Given the description of an element on the screen output the (x, y) to click on. 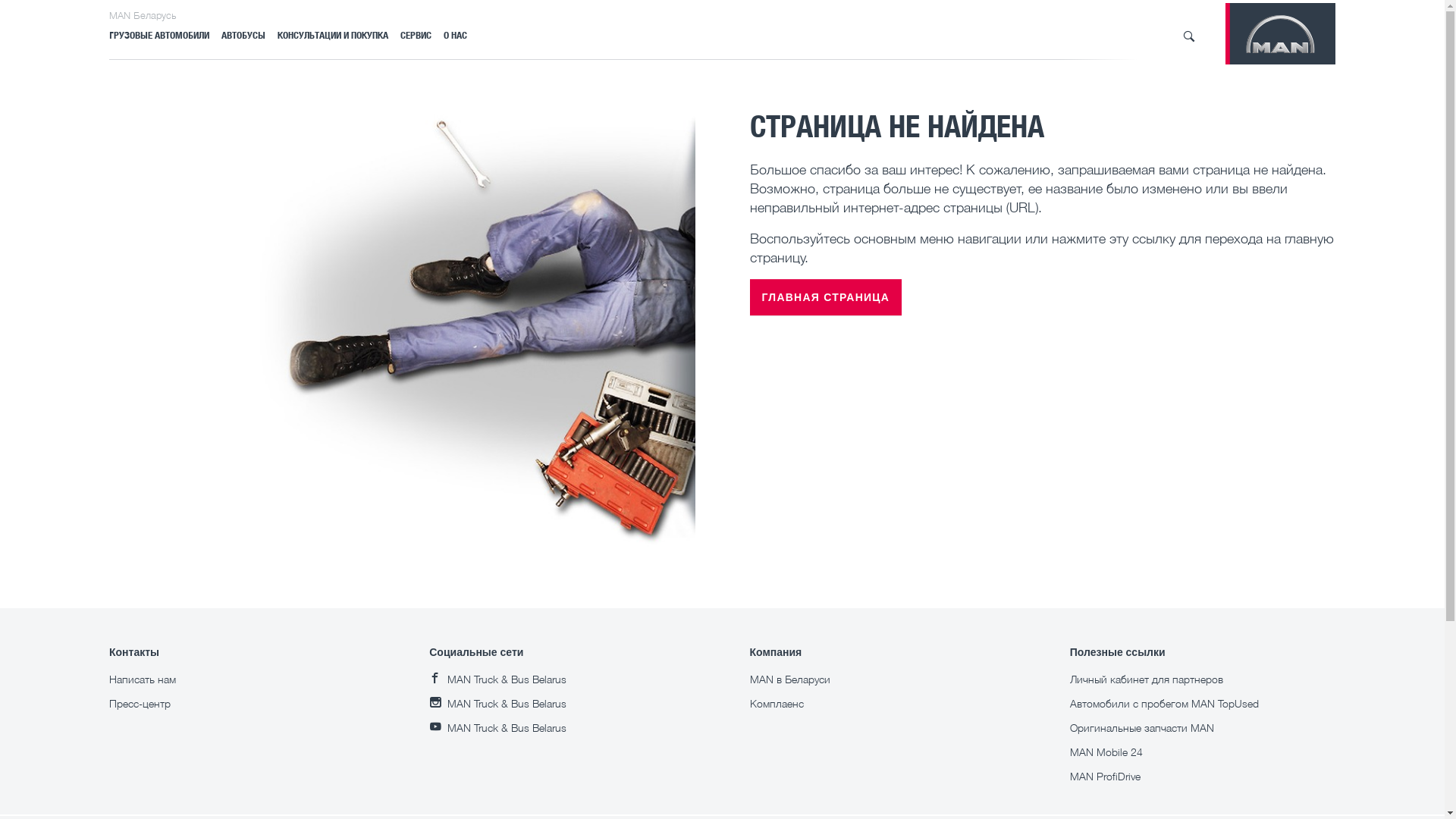
MAN ProfiDrive Element type: text (1105, 775)
MAN Truck & Bus Belarus Element type: text (497, 678)
MAN Truck & Bus Belarus Element type: text (497, 727)
MAN Truck & Bus Belarus Element type: text (497, 702)
MAN Mobile 24 Element type: text (1106, 751)
